Given the description of an element on the screen output the (x, y) to click on. 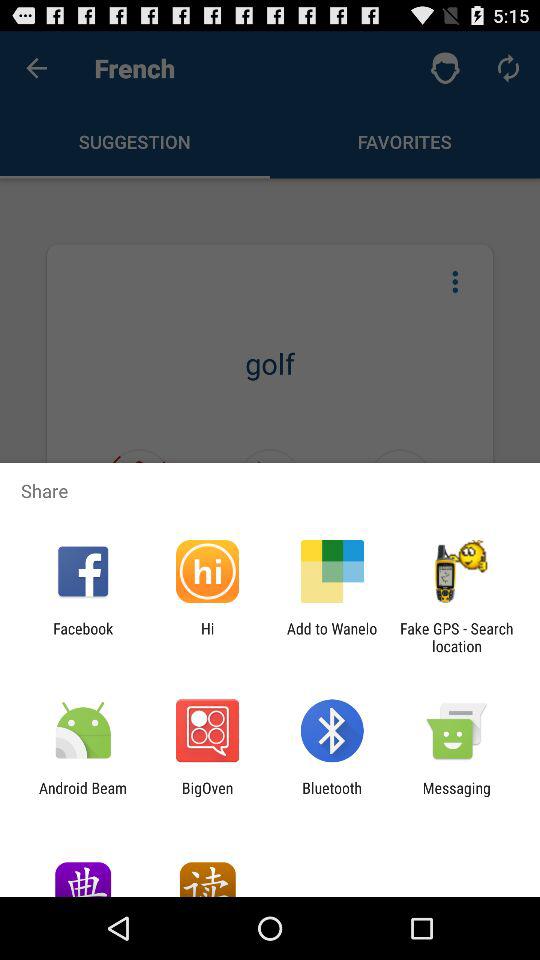
open the app to the left of the add to wanelo item (207, 637)
